Given the description of an element on the screen output the (x, y) to click on. 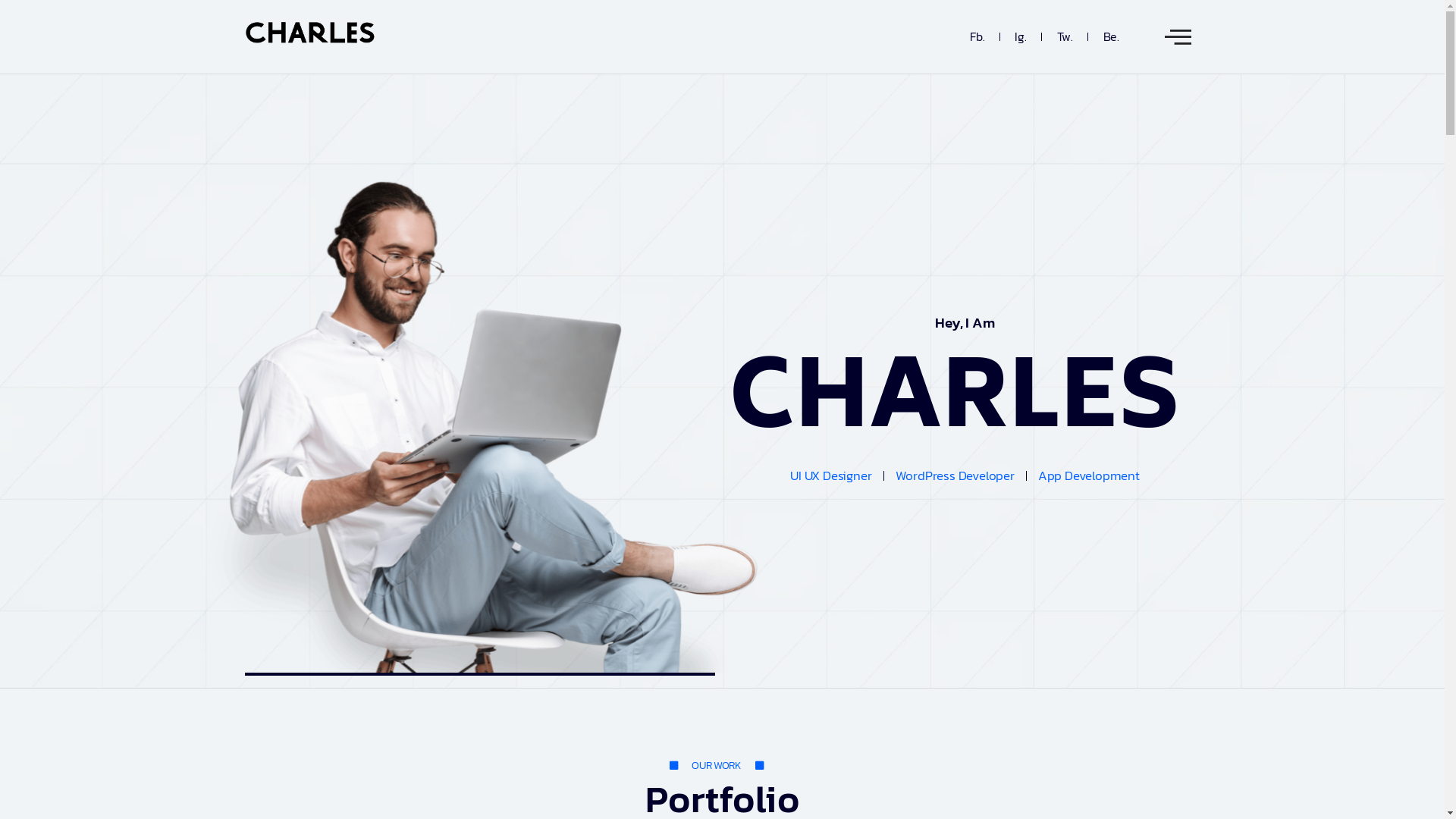
Be. Element type: text (1111, 36)
Tw. Element type: text (1065, 36)
Ig. Element type: text (1020, 36)
Fb. Element type: text (976, 36)
